Given the description of an element on the screen output the (x, y) to click on. 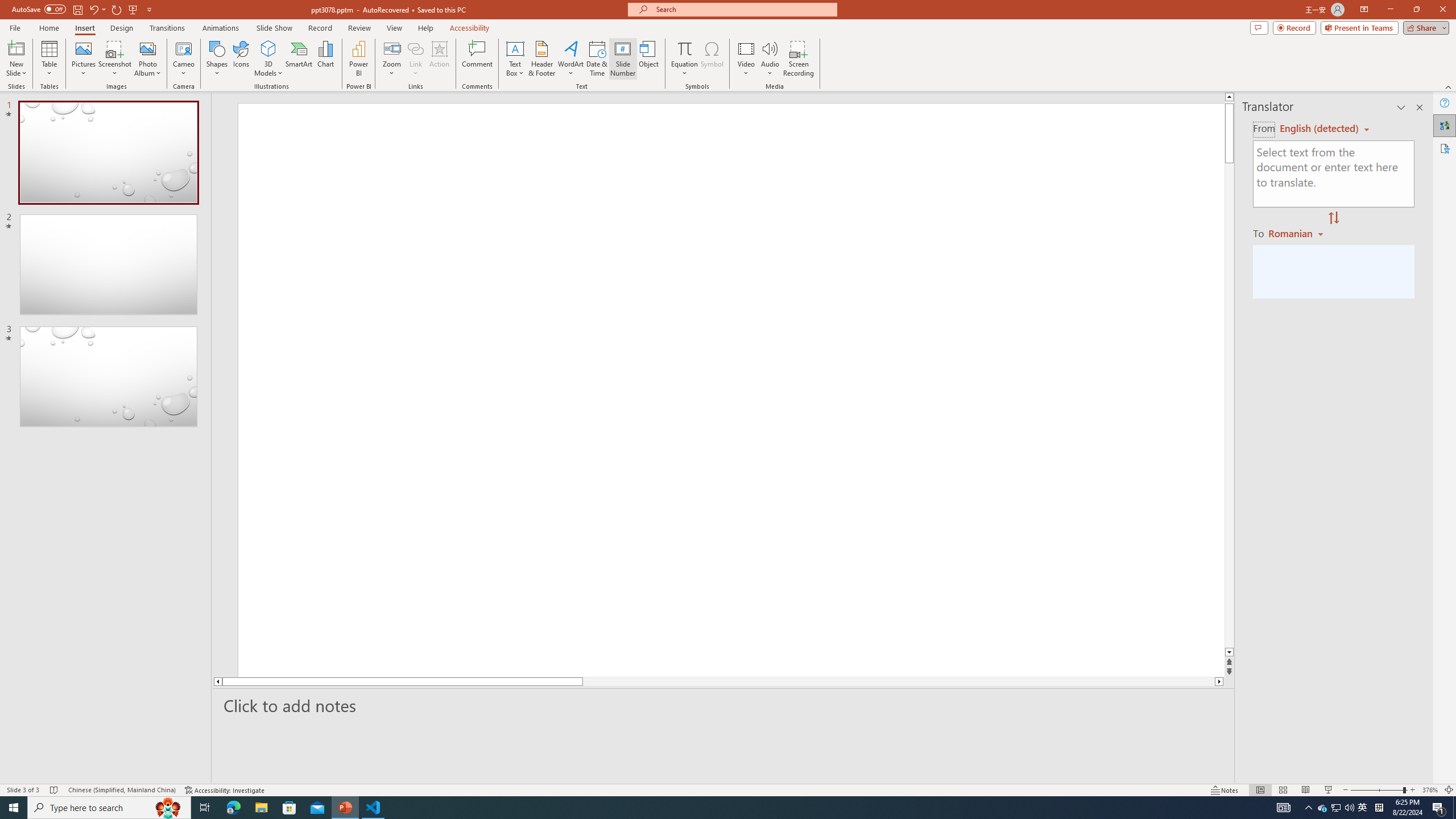
Screenshot (114, 58)
Photo Album... (147, 58)
